Given the description of an element on the screen output the (x, y) to click on. 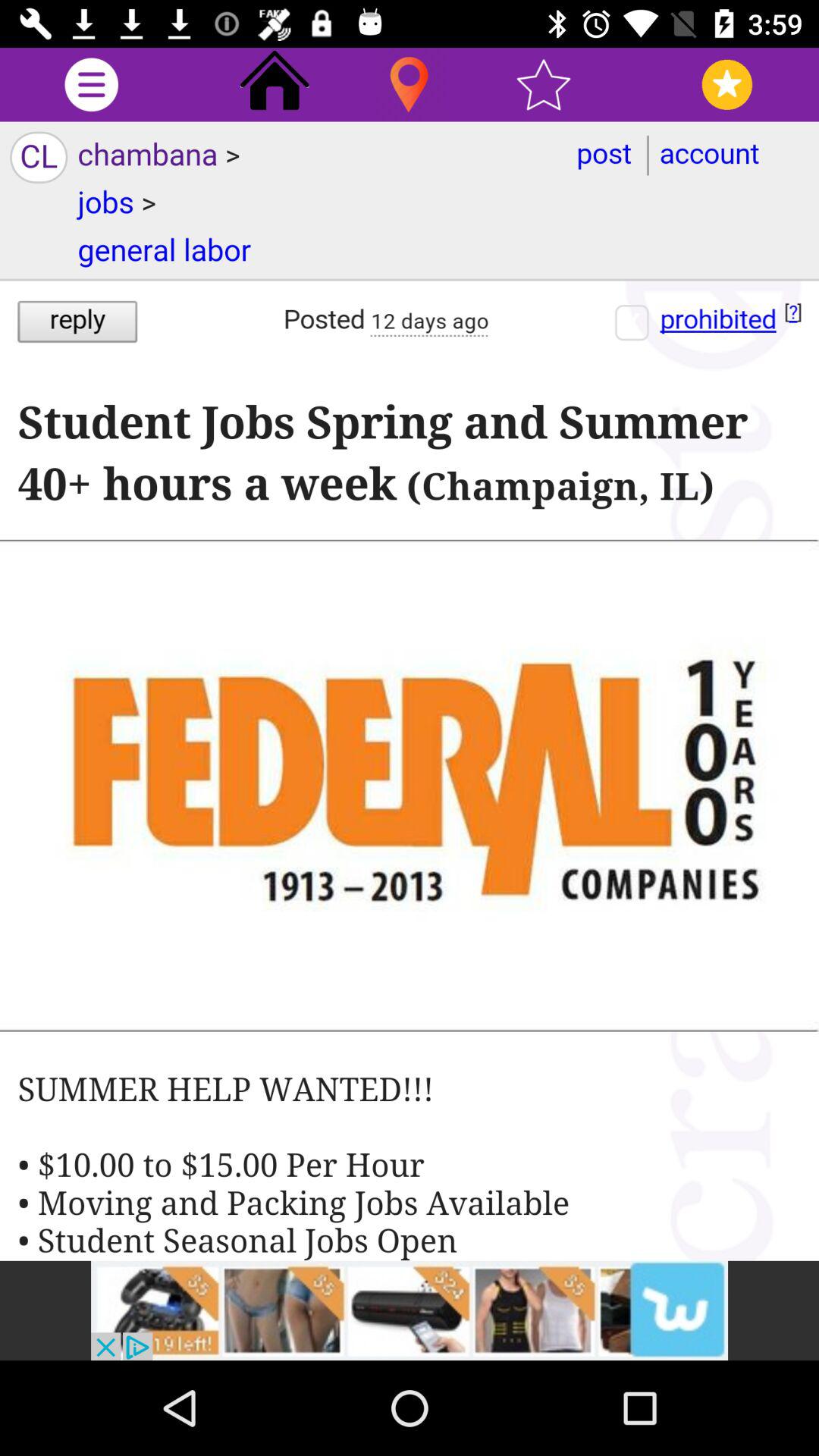
menu button (91, 84)
